Given the description of an element on the screen output the (x, y) to click on. 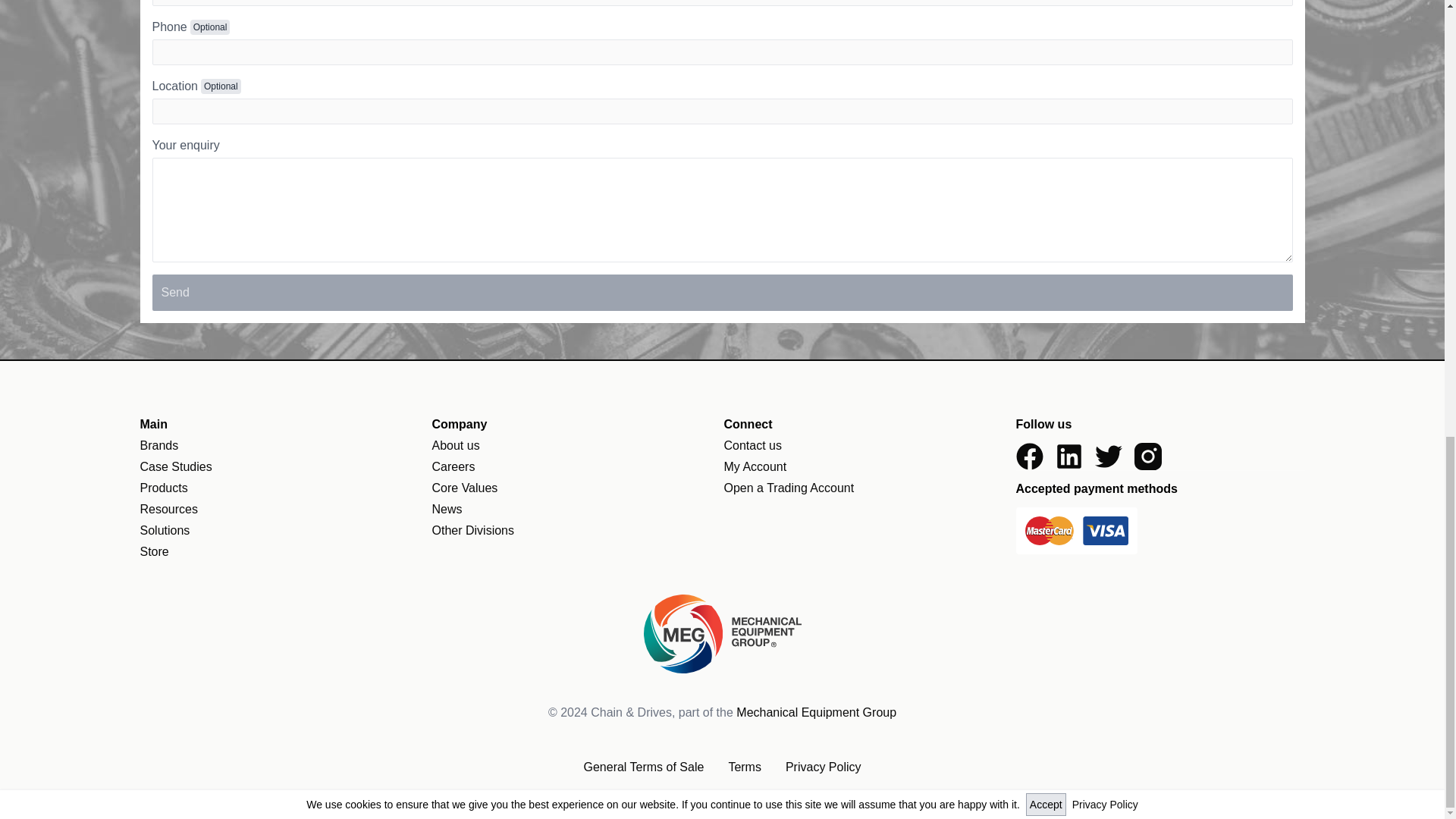
Products (163, 487)
Connect (867, 424)
Other Divisions (472, 530)
Company (576, 424)
My Account (754, 466)
About us (456, 445)
Main (283, 424)
Contact us (751, 445)
Case Studies (175, 466)
News (447, 508)
Careers (454, 466)
Open a Trading Account (788, 487)
Core Values (464, 487)
Send (721, 292)
Resources (167, 508)
